Given the description of an element on the screen output the (x, y) to click on. 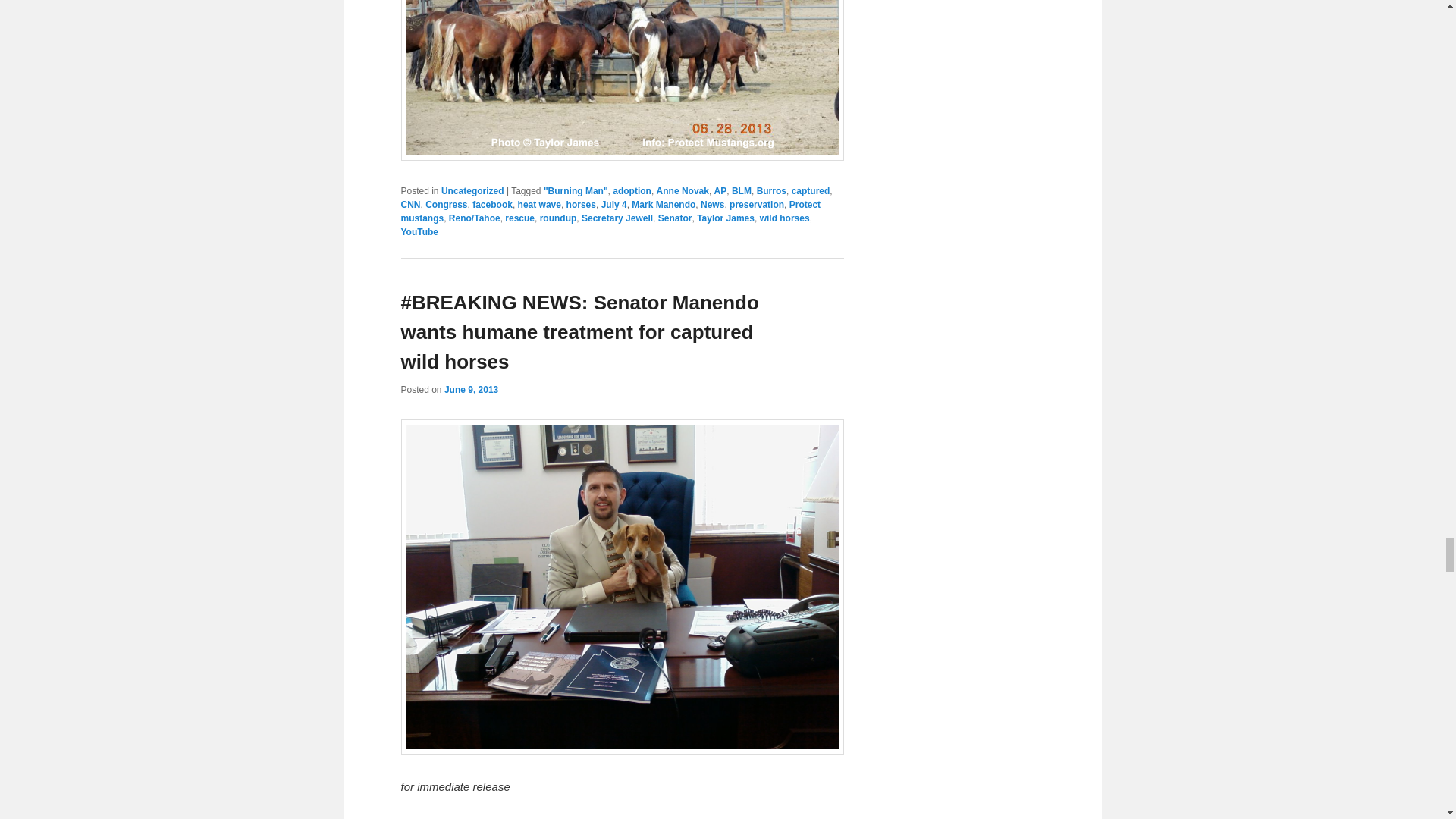
5:04 pm (470, 389)
